Given the description of an element on the screen output the (x, y) to click on. 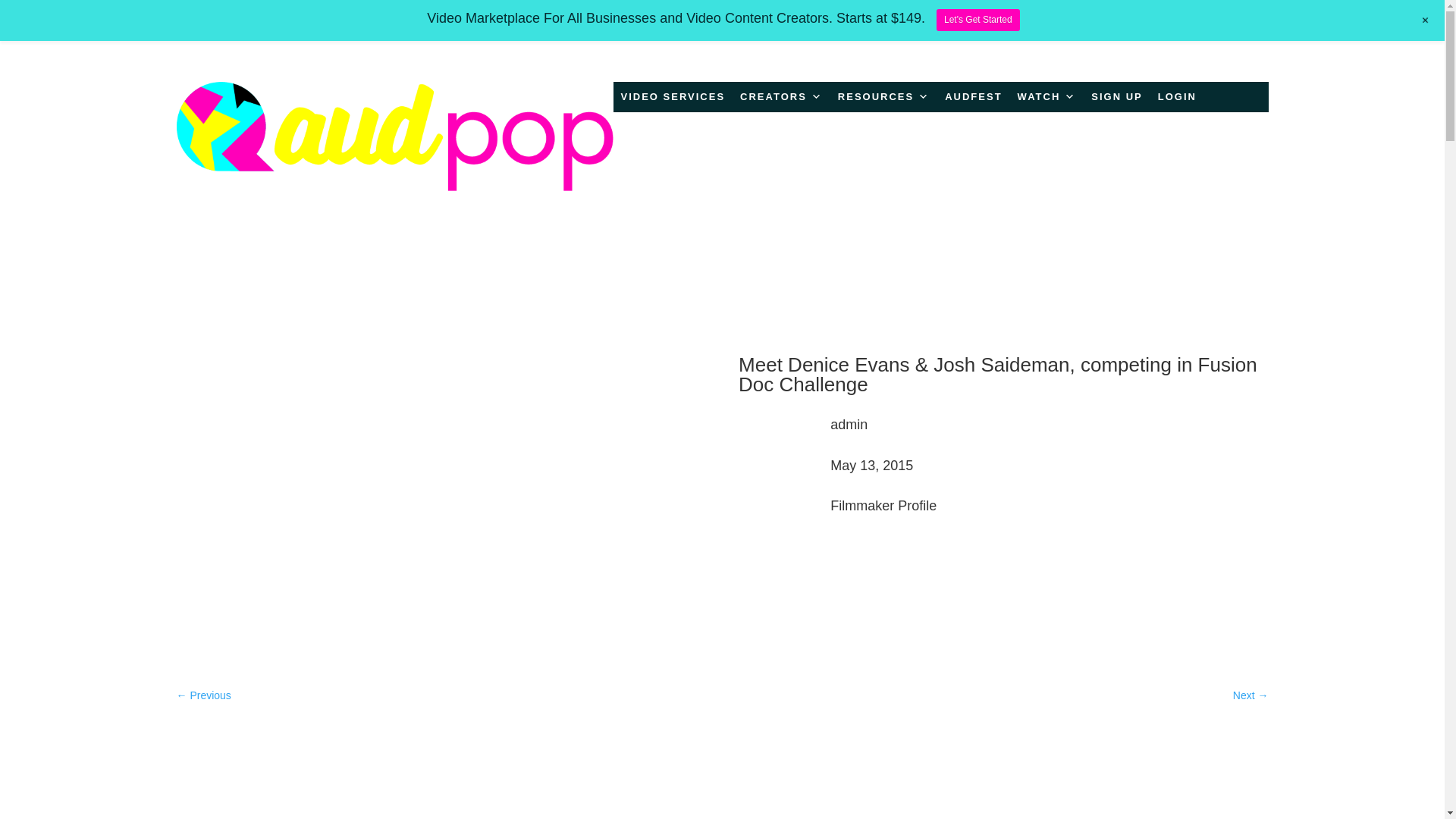
CREATORS (780, 96)
Filmmaker Profile (882, 505)
AUDFEST (973, 96)
VIDEO SERVICES (672, 96)
RESOURCES (883, 96)
admin (848, 424)
SIGN UP (1116, 96)
LOGIN (1177, 96)
Search (1216, 775)
WATCH (1047, 96)
